Given the description of an element on the screen output the (x, y) to click on. 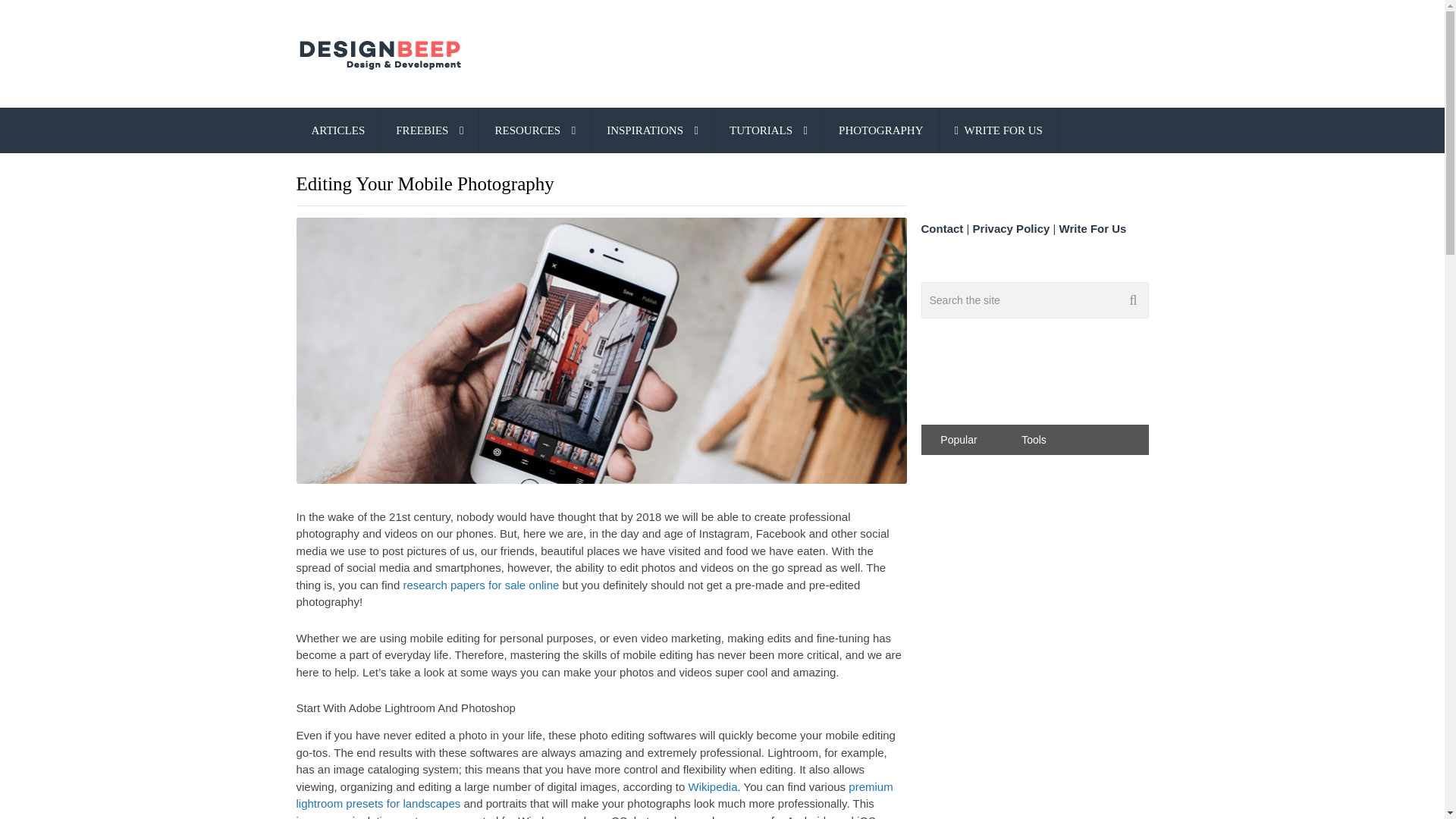
PHOTOGRAPHY (880, 130)
ARTICLES (337, 130)
premium lightroom presets for landscapes (593, 795)
FREEBIES (429, 130)
Wikipedia (711, 786)
research papers for sale online (481, 584)
INSPIRATIONS (652, 130)
WRITE FOR US (998, 130)
RESOURCES (535, 130)
TUTORIALS (768, 130)
